Given the description of an element on the screen output the (x, y) to click on. 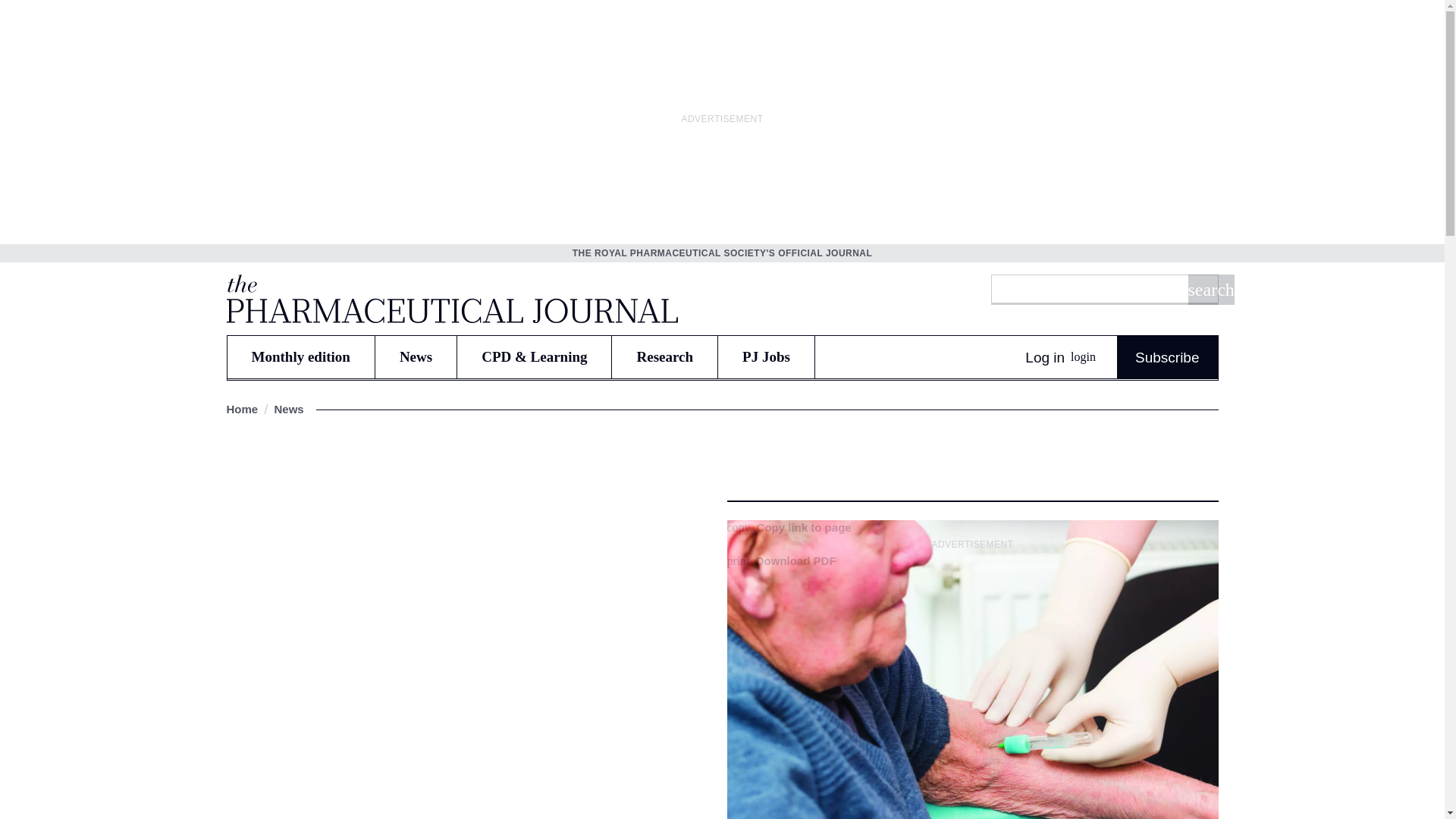
Monthly edition (300, 356)
News (416, 356)
Search (1210, 289)
The Pharmaceutical Journal (451, 298)
